Given the description of an element on the screen output the (x, y) to click on. 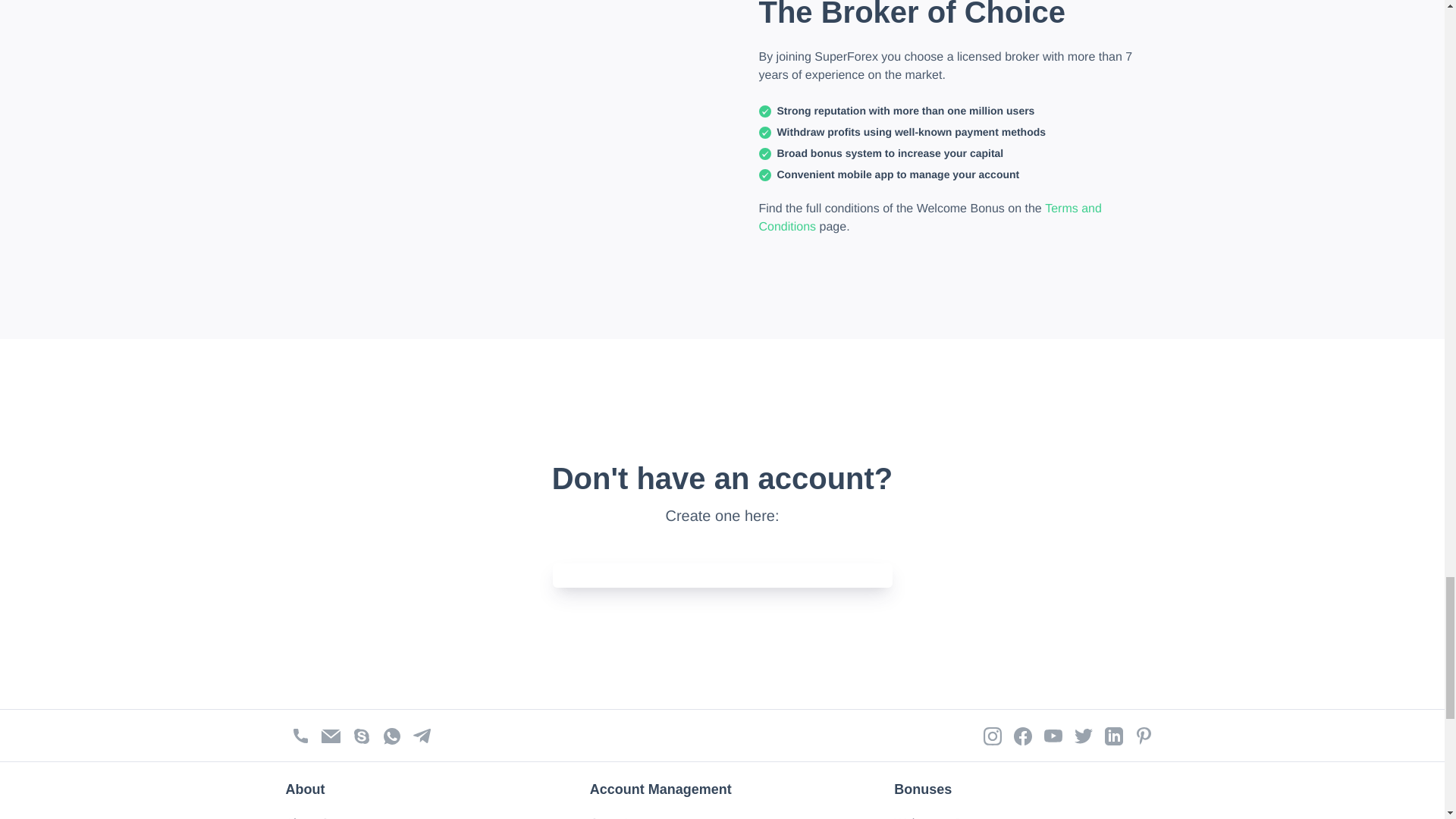
Terms and Conditions (931, 217)
Open Account (627, 816)
About Company (328, 816)
